Given the description of an element on the screen output the (x, y) to click on. 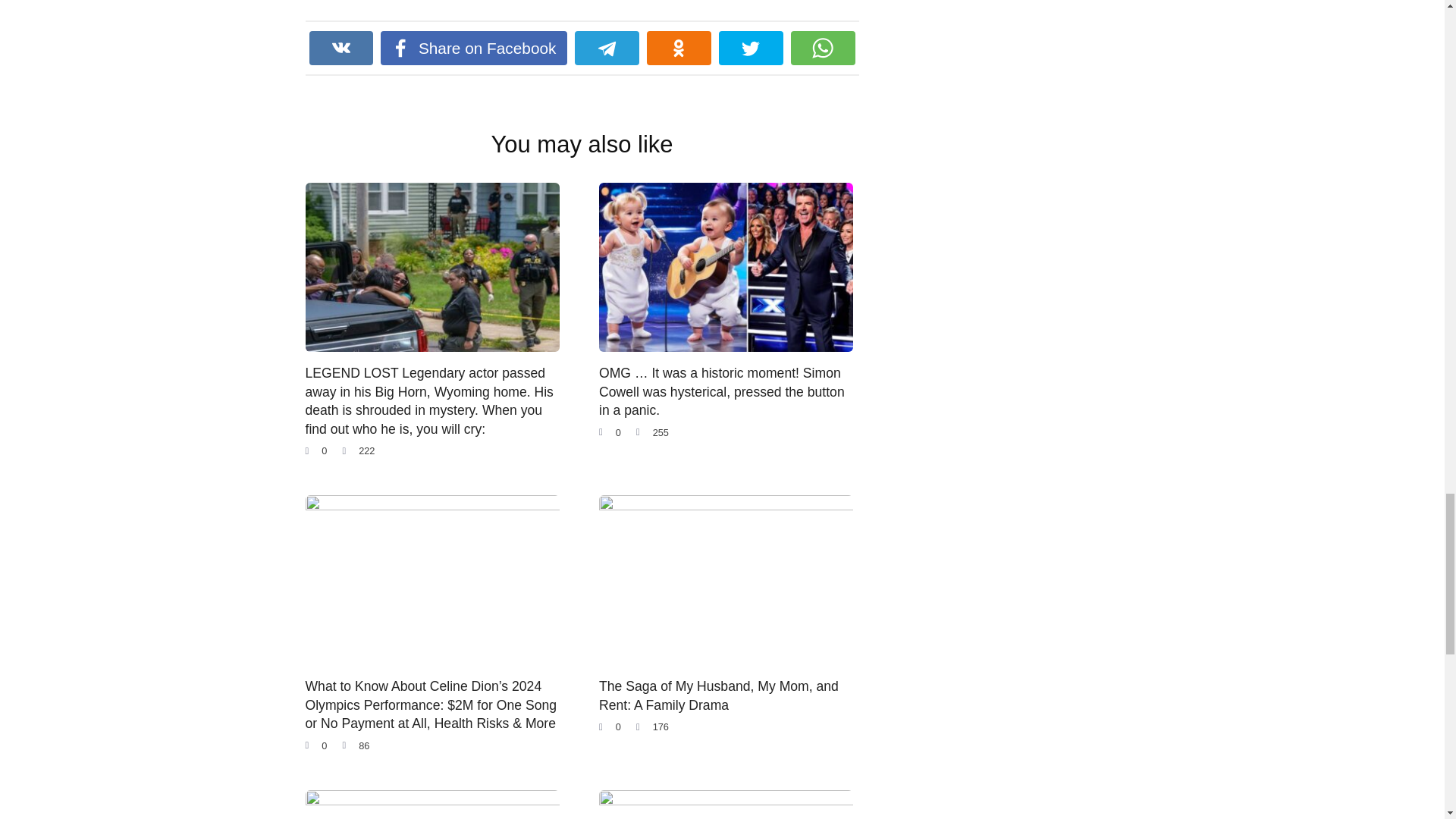
The Saga of My Husband, My Mom, and Rent: A Family Drama (718, 695)
